Given the description of an element on the screen output the (x, y) to click on. 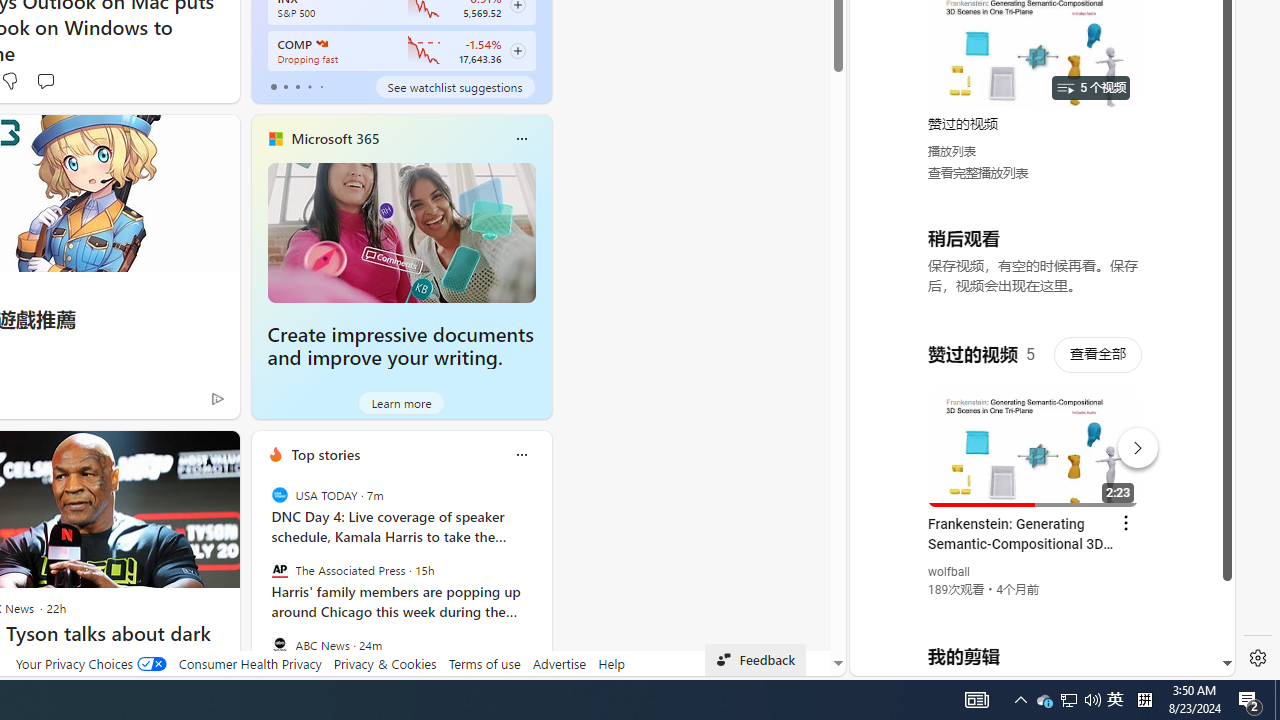
Ad Choice (217, 398)
Actions for this site (1131, 443)
YouTube (1034, 432)
YouTube - YouTube (1034, 266)
Privacy & Cookies (384, 663)
previous (261, 583)
USA TODAY (279, 494)
Consumer Health Privacy (249, 663)
ABC News (279, 644)
tab-4 (320, 86)
